Given the description of an element on the screen output the (x, y) to click on. 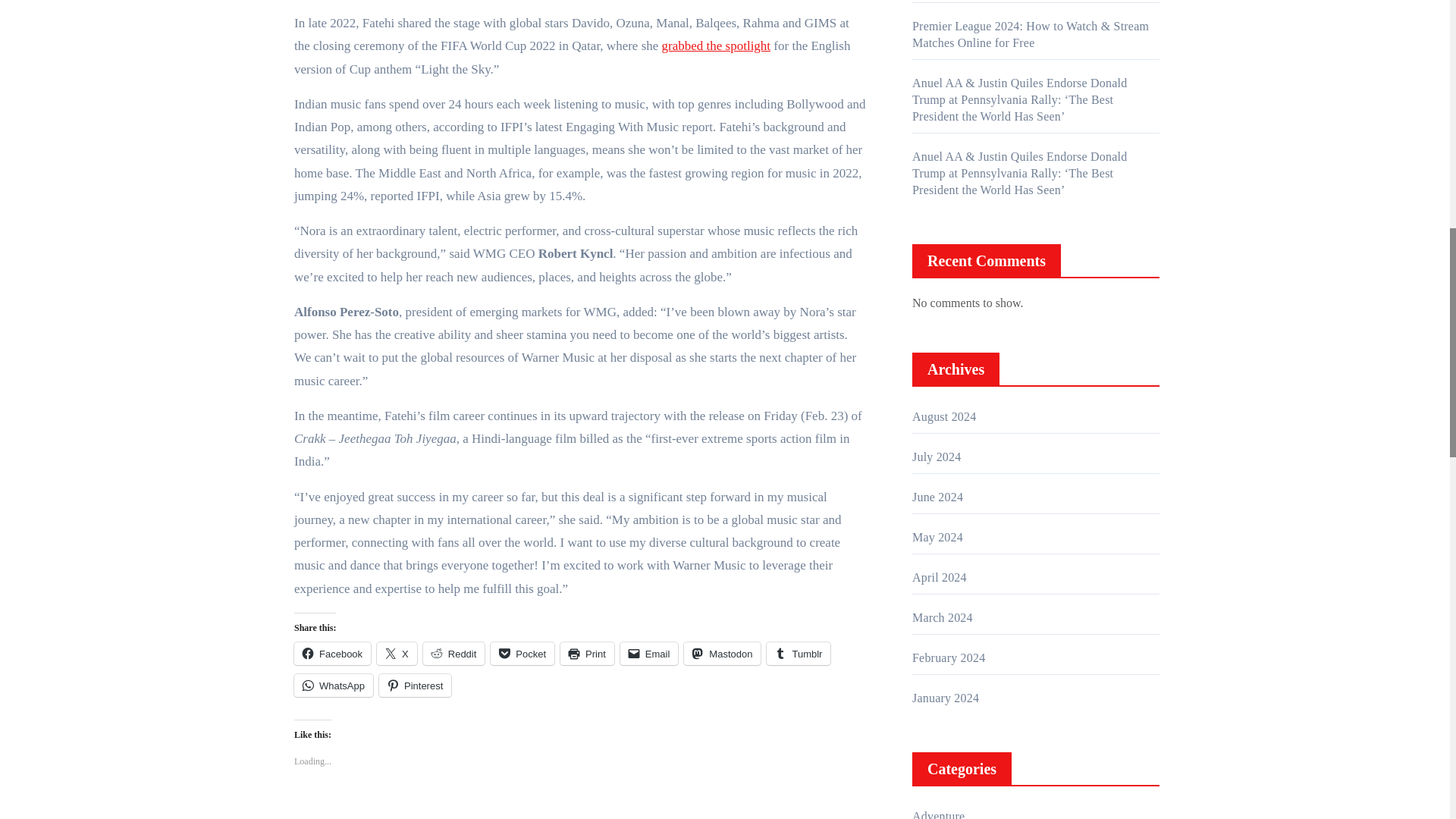
X (396, 653)
Click to share on X (396, 653)
Pinterest (414, 685)
Tumblr (798, 653)
Facebook (332, 653)
Email (649, 653)
Click to print (587, 653)
Click to share on Facebook (332, 653)
Pocket (522, 653)
Print (587, 653)
